Given the description of an element on the screen output the (x, y) to click on. 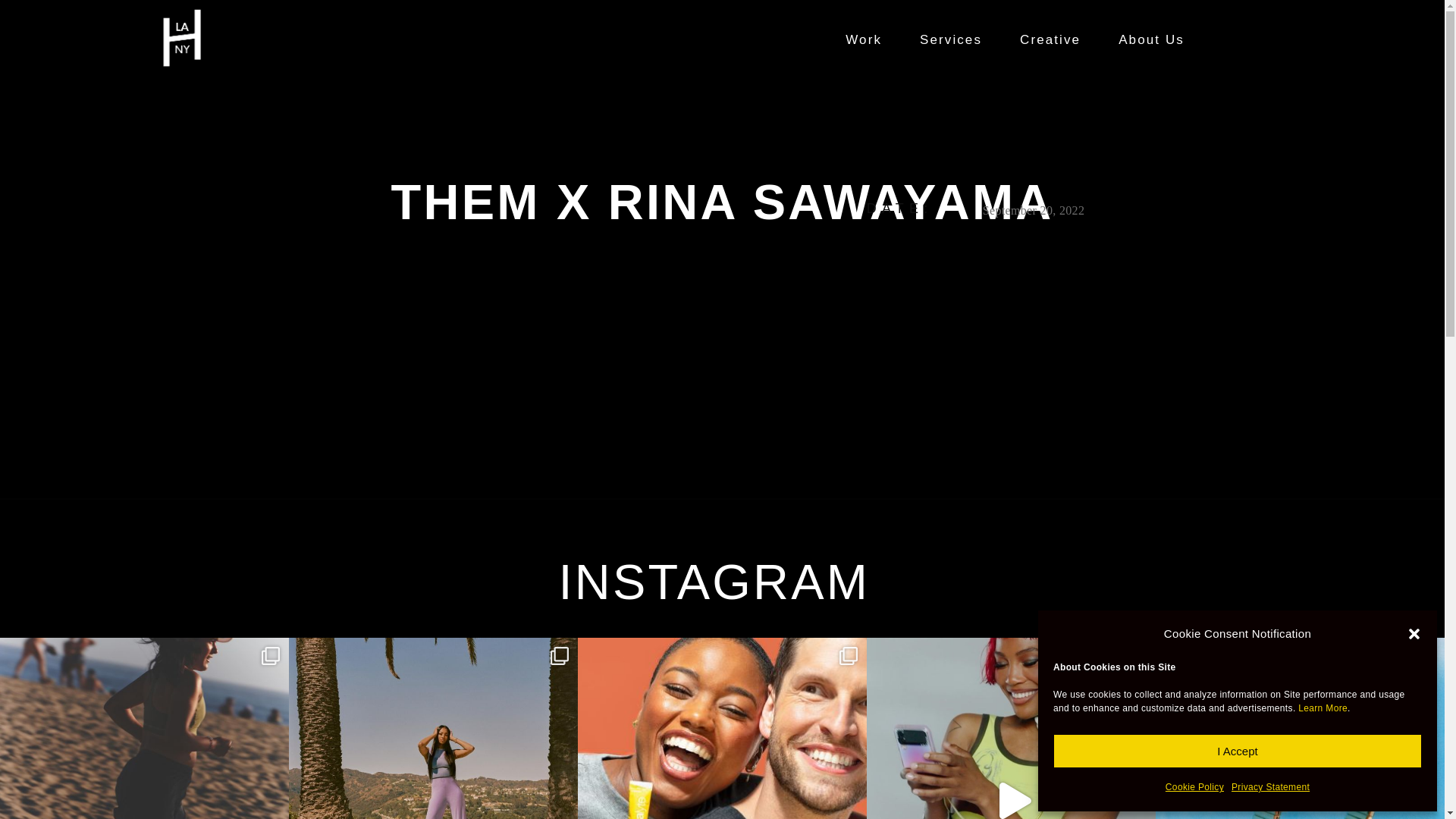
Services (954, 39)
Work (866, 39)
Cookie Policy (1195, 787)
Creative (1053, 39)
Learn More (1323, 707)
I Accept (1237, 750)
Privacy Statement (1269, 787)
About Us (1155, 39)
